Given the description of an element on the screen output the (x, y) to click on. 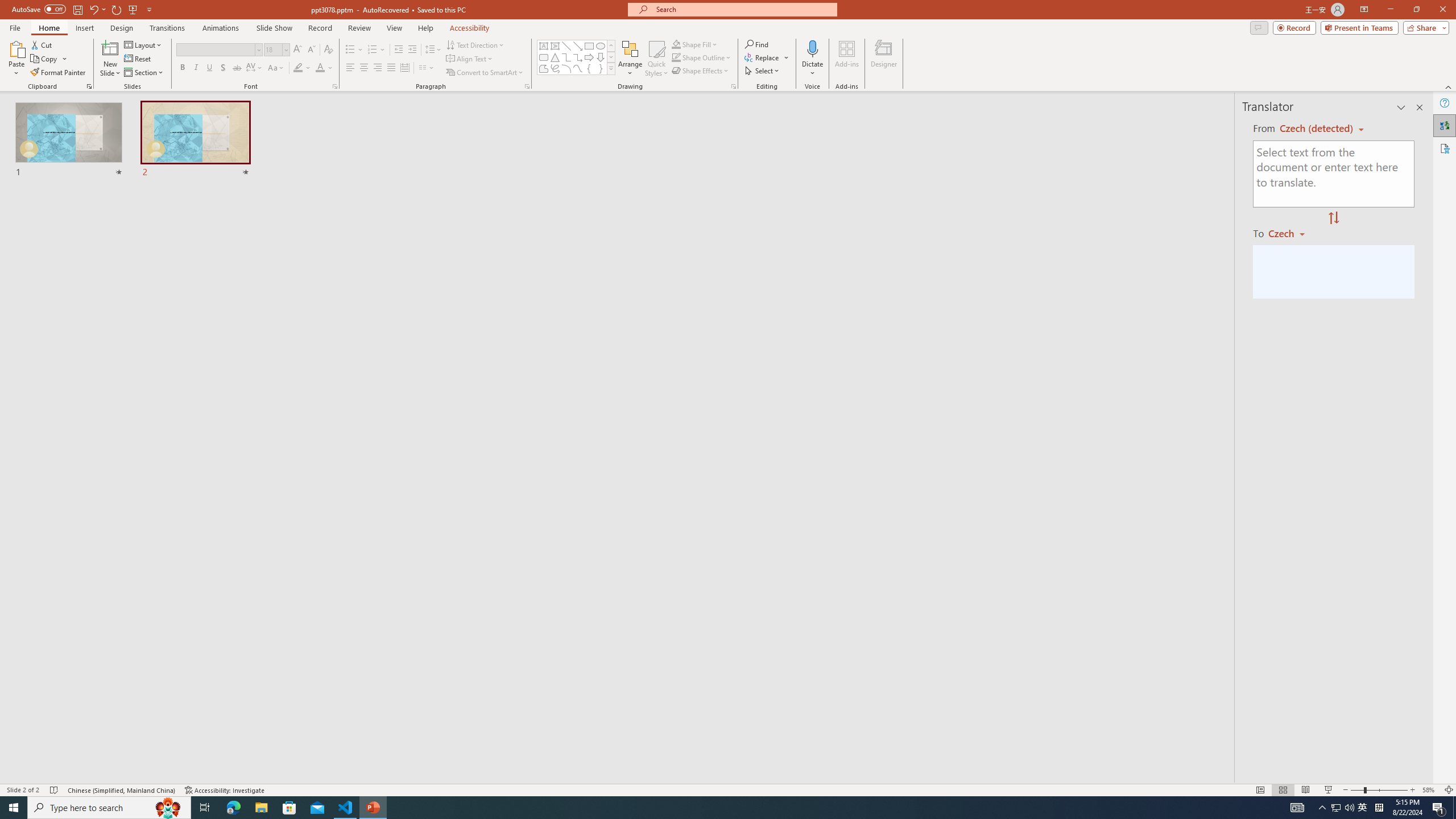
Clear Formatting (327, 49)
Strikethrough (237, 67)
Zoom (1379, 790)
Align Text (470, 58)
Font... (334, 85)
Curve (577, 68)
Replace... (767, 56)
Format Object... (733, 85)
Font Size (276, 49)
